Given the description of an element on the screen output the (x, y) to click on. 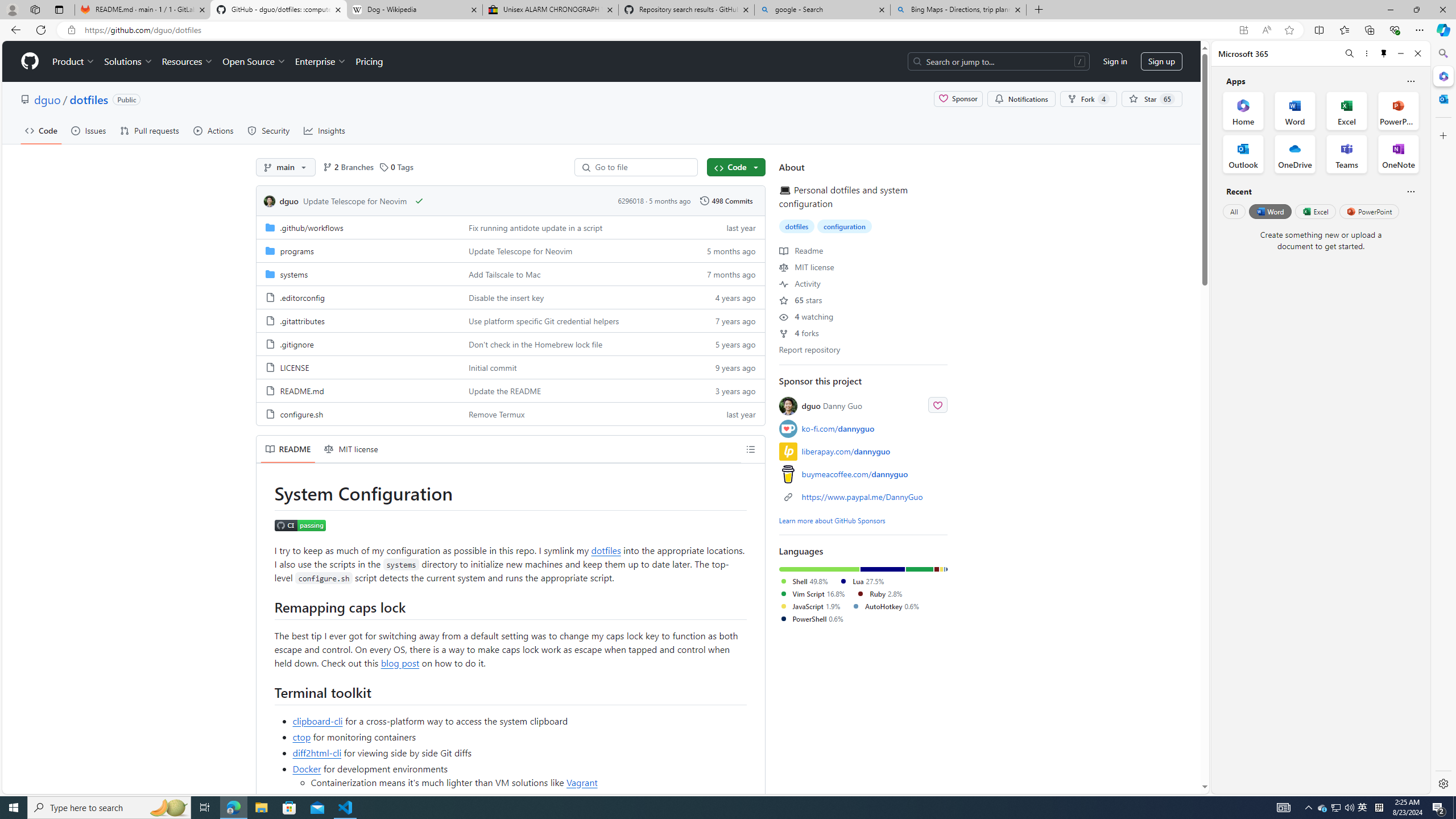
Lua 27.5% (860, 580)
Product (74, 60)
Sponsor @dguo (937, 404)
.editorconfig, (File) (358, 296)
Sponsor dguo/dotfiles (957, 98)
Pricing (368, 60)
Outline (750, 449)
CI status (299, 525)
ctop for monitoring containers (519, 736)
Fix running antidote update in a script (535, 227)
5 years ago (725, 343)
Update the README (504, 390)
Open Source (254, 60)
